Given the description of an element on the screen output the (x, y) to click on. 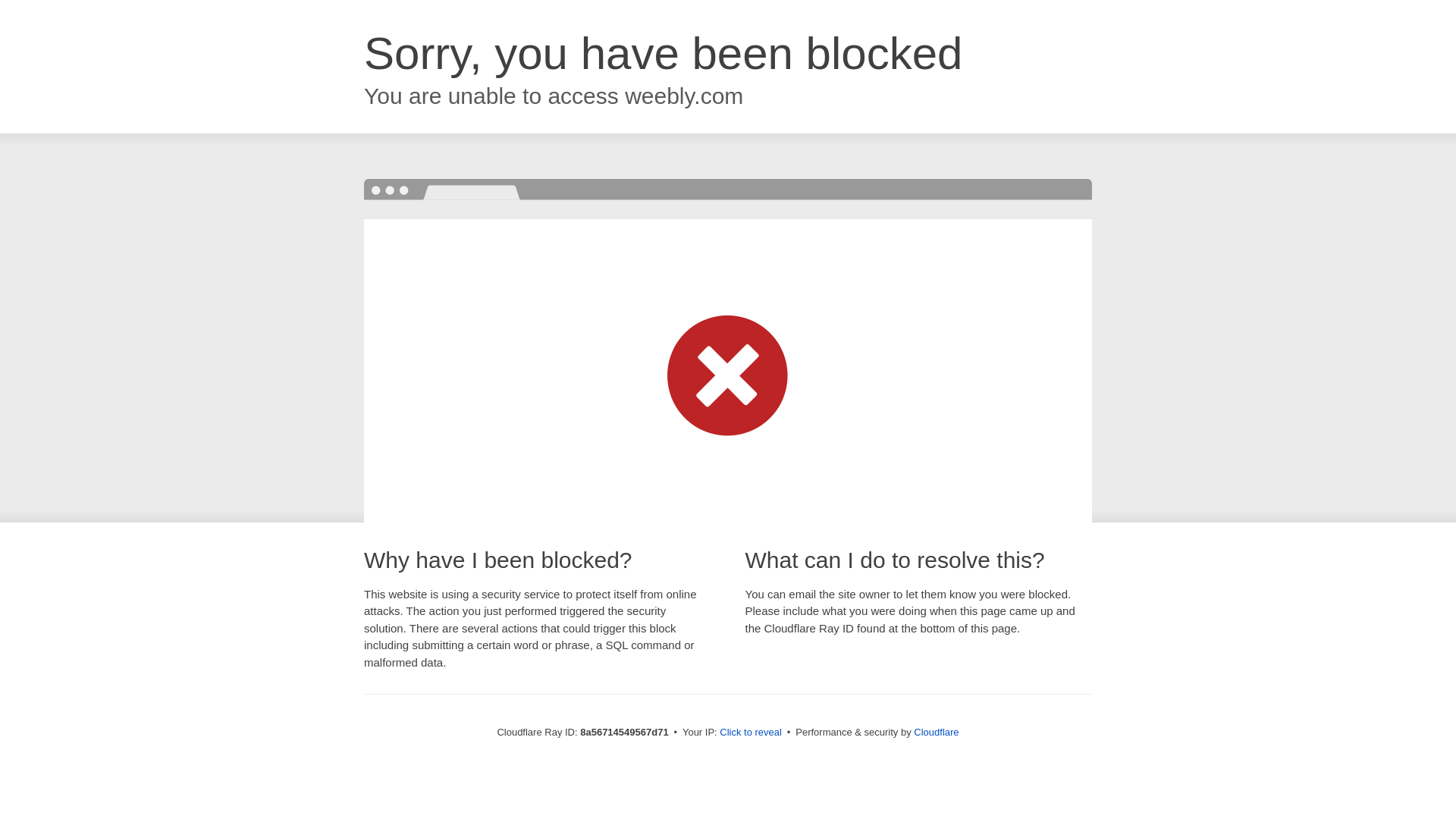
Cloudflare (936, 731)
Click to reveal (750, 732)
